Given the description of an element on the screen output the (x, y) to click on. 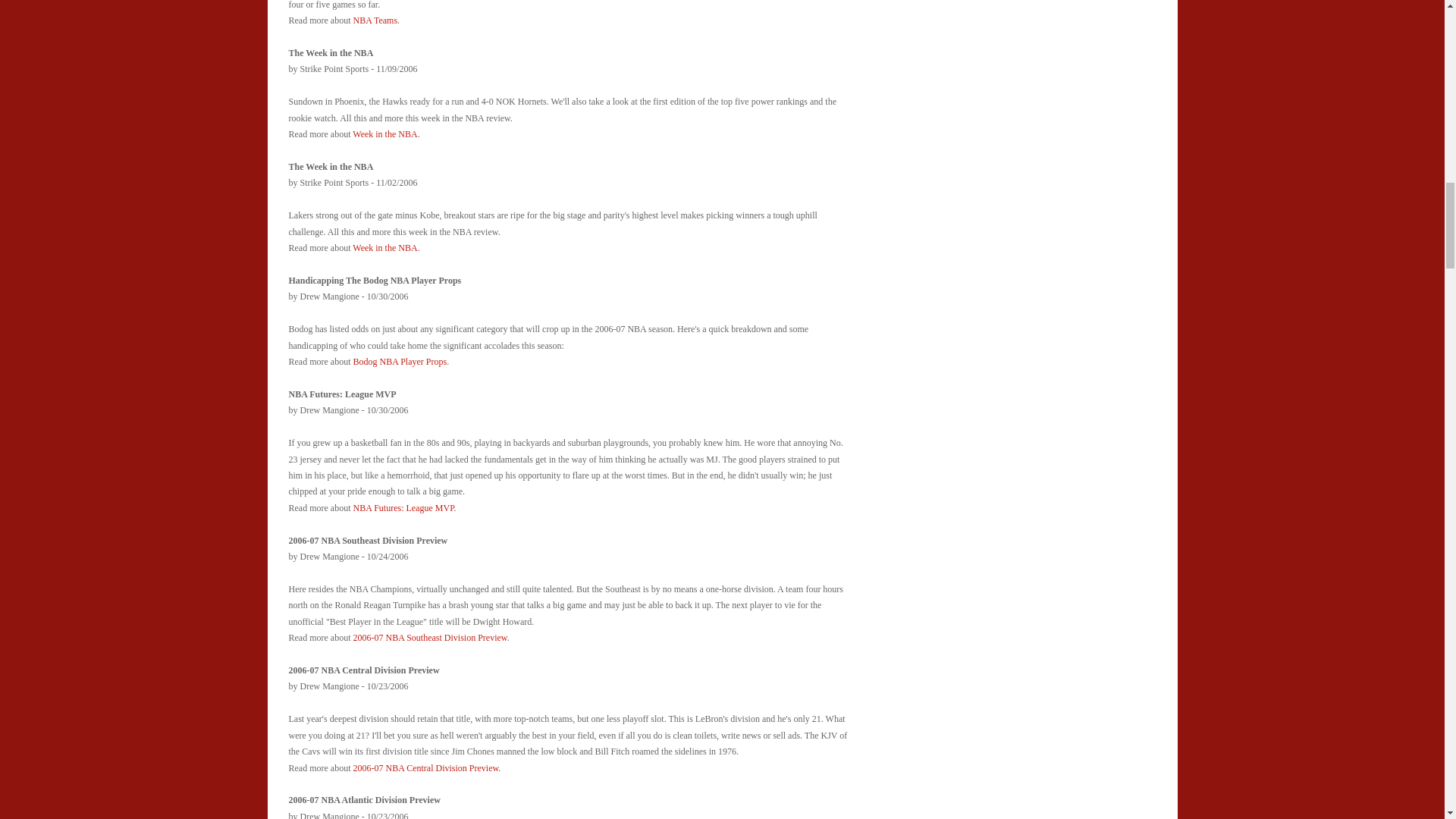
Week in the NBA (384, 133)
2006-07 NBA Southeast Division Preview (429, 637)
2006-07 NBA Central Division Preview (424, 767)
Week in the NBA (384, 247)
NBA Teams (374, 20)
NBA Futures: League MVP (402, 507)
Bodog NBA Player Props (399, 361)
